Given the description of an element on the screen output the (x, y) to click on. 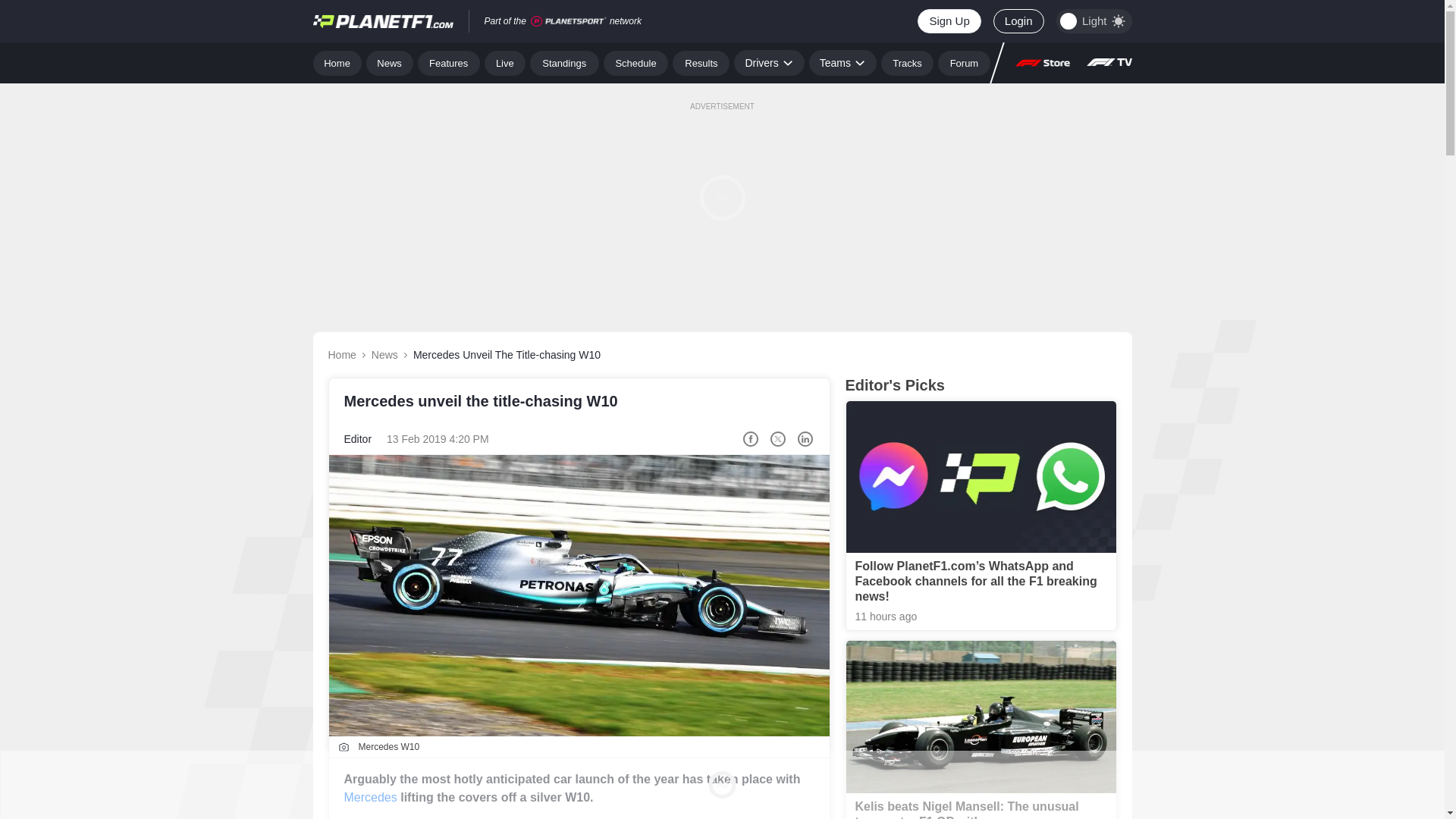
Schedule (636, 62)
Results (700, 62)
Sign Up (948, 21)
Login (1017, 21)
Live (504, 62)
Drivers (768, 62)
News (389, 62)
Standings (563, 62)
Features (448, 62)
Teams (842, 62)
